Given the description of an element on the screen output the (x, y) to click on. 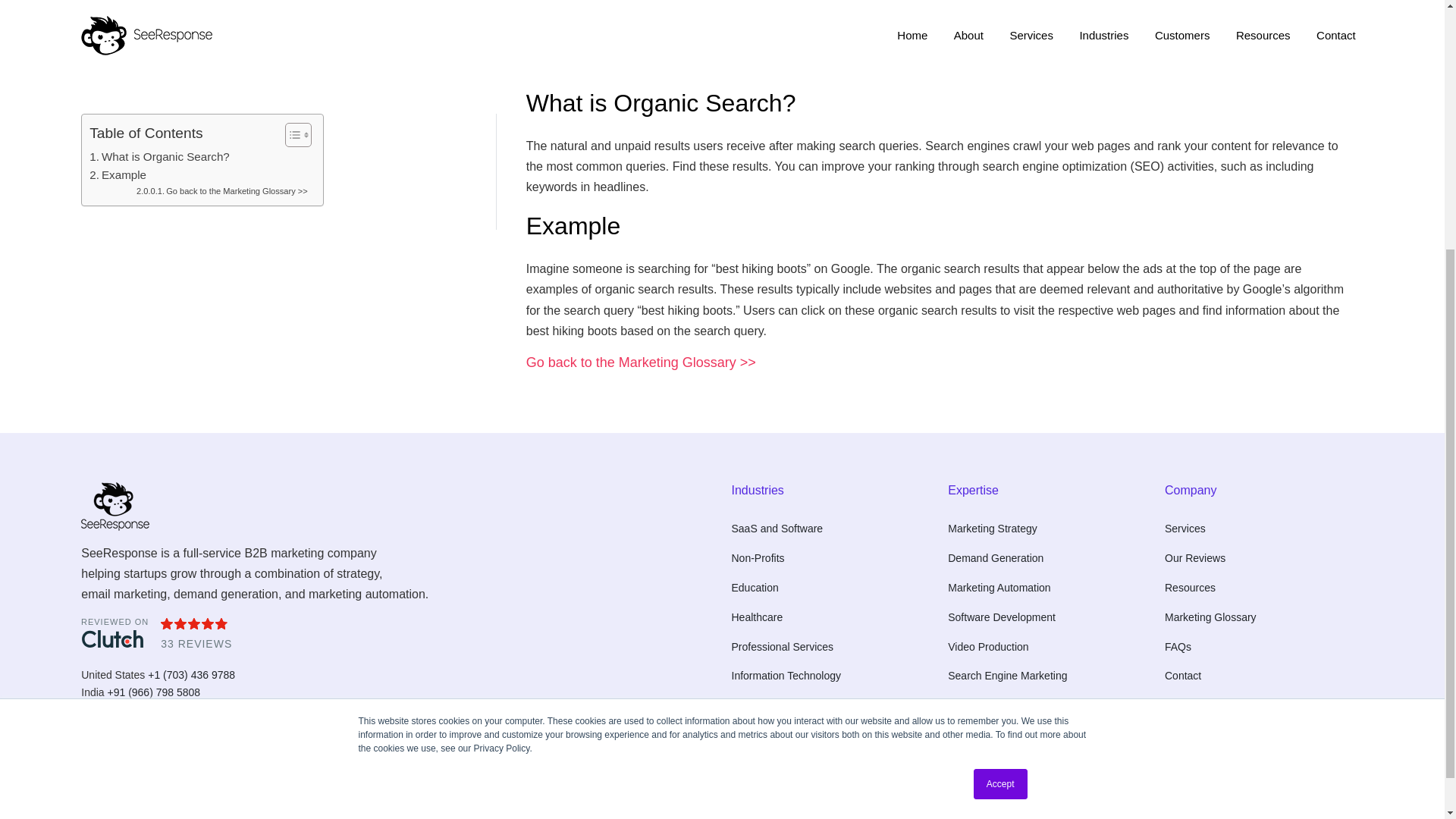
What is Organic Search? (159, 129)
Example (117, 147)
Accept (1000, 415)
